Given the description of an element on the screen output the (x, y) to click on. 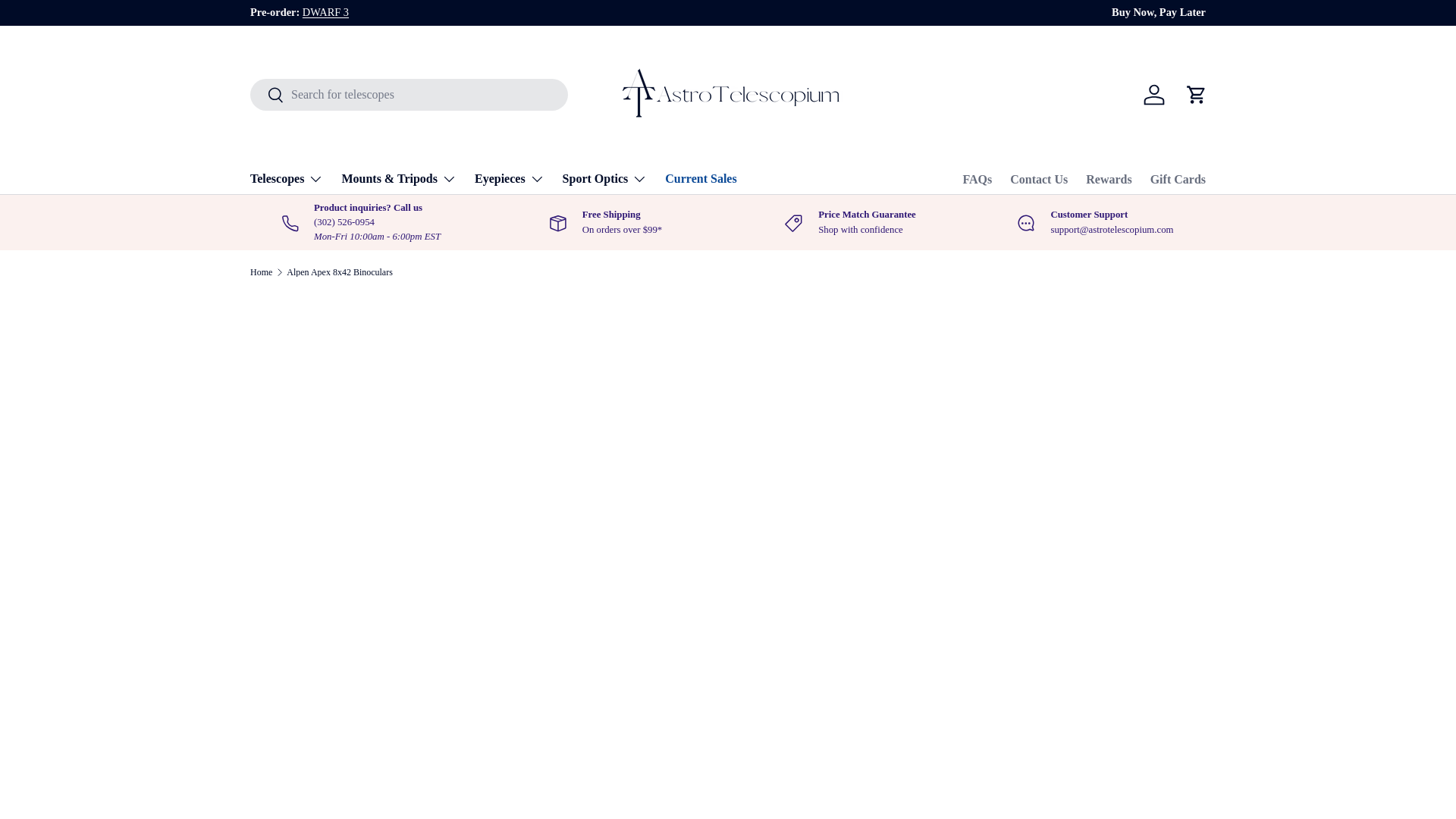
Buy Now, Pay Later (1158, 12)
Search (266, 95)
DWARF 3 Smart Telescope (325, 11)
Alpen Optics (1255, 11)
Alpen Optics (1255, 11)
Log in (1153, 94)
Telescopes (286, 178)
Skip to content (68, 21)
Cart (1195, 94)
DWARF 3 (325, 11)
